Given the description of an element on the screen output the (x, y) to click on. 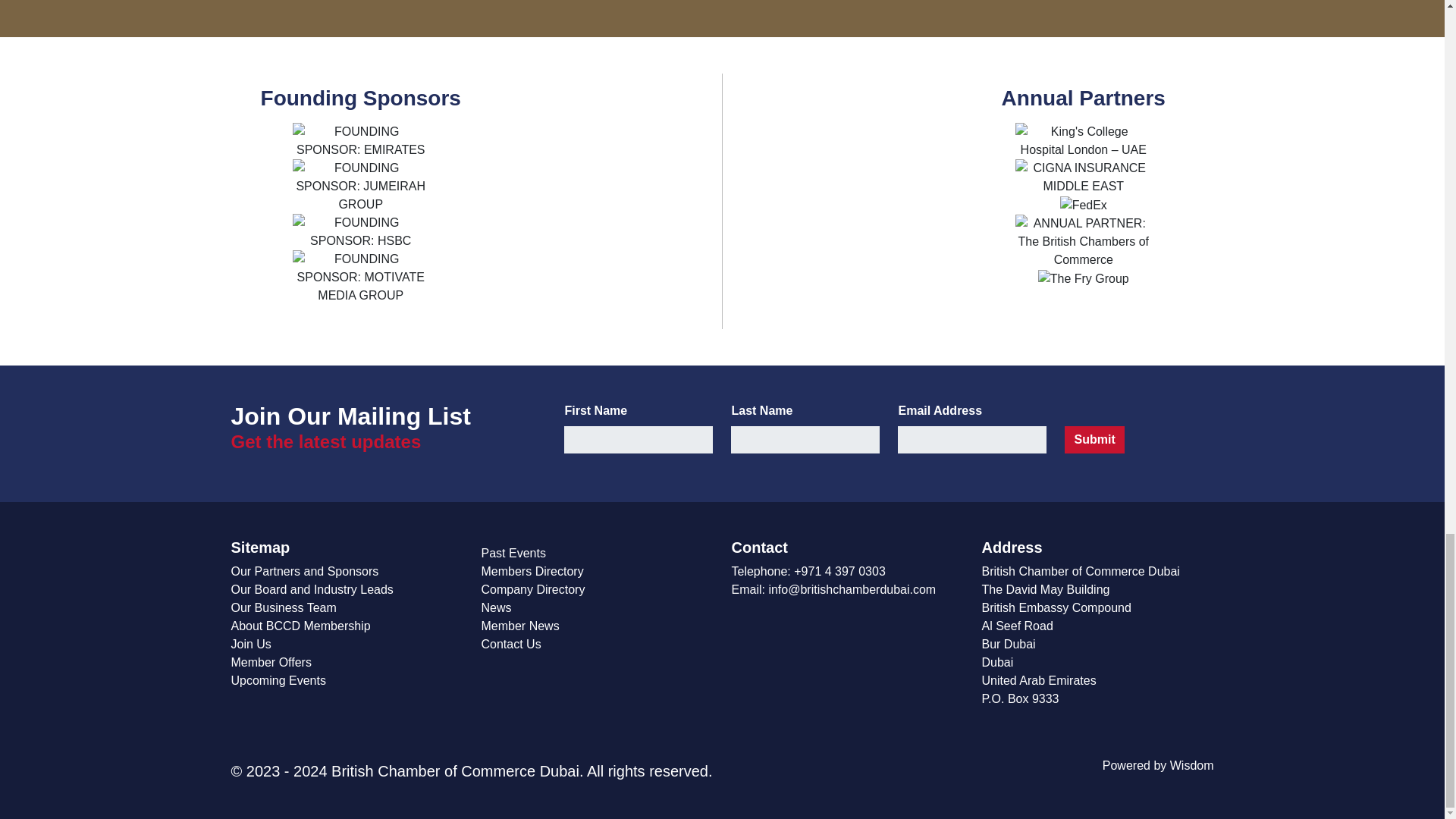
Join Us (250, 644)
Upcoming Events (277, 680)
Our Board and Industry Leads (311, 589)
Member Offers (270, 662)
Our Business Team (283, 607)
About BCCD Membership (299, 625)
Our Partners and Sponsors (304, 571)
